Given the description of an element on the screen output the (x, y) to click on. 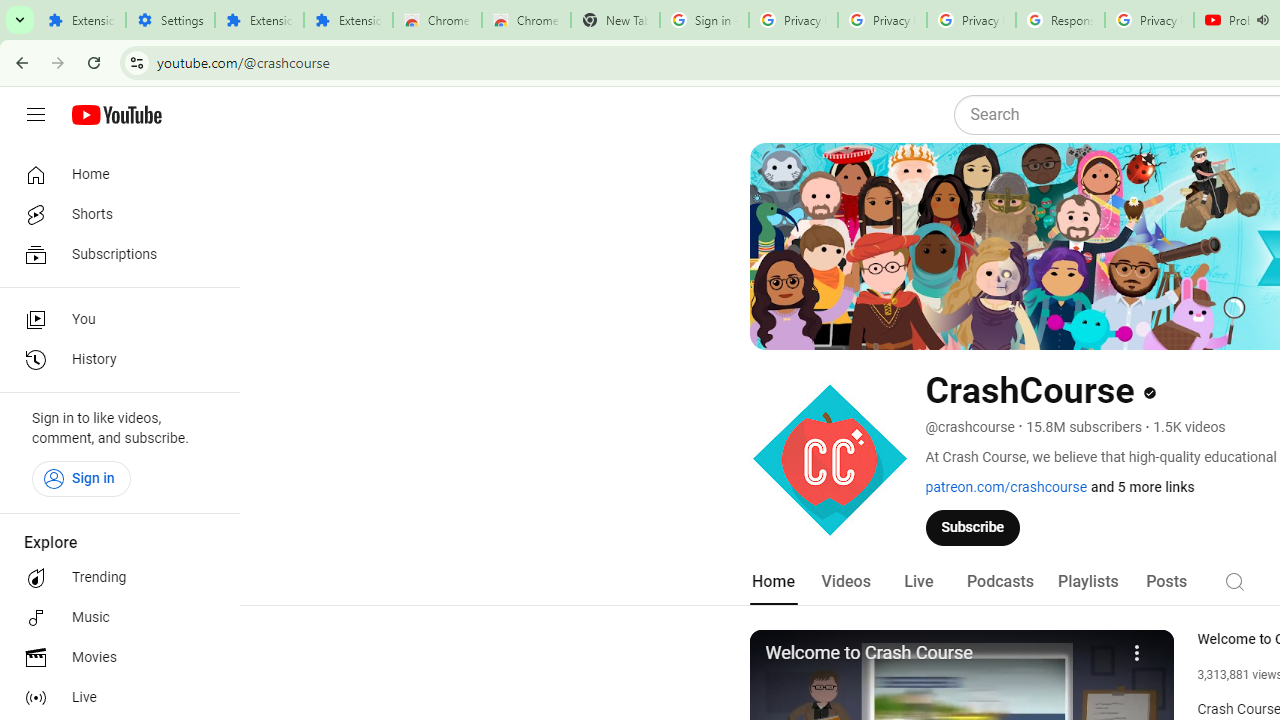
YouTube Home (116, 115)
Home (113, 174)
Movies (113, 657)
Subscribe (973, 527)
Videos (845, 581)
Extensions (259, 20)
patreon.com/crashcourse (1006, 487)
Guide (35, 115)
Live (113, 697)
